Given the description of an element on the screen output the (x, y) to click on. 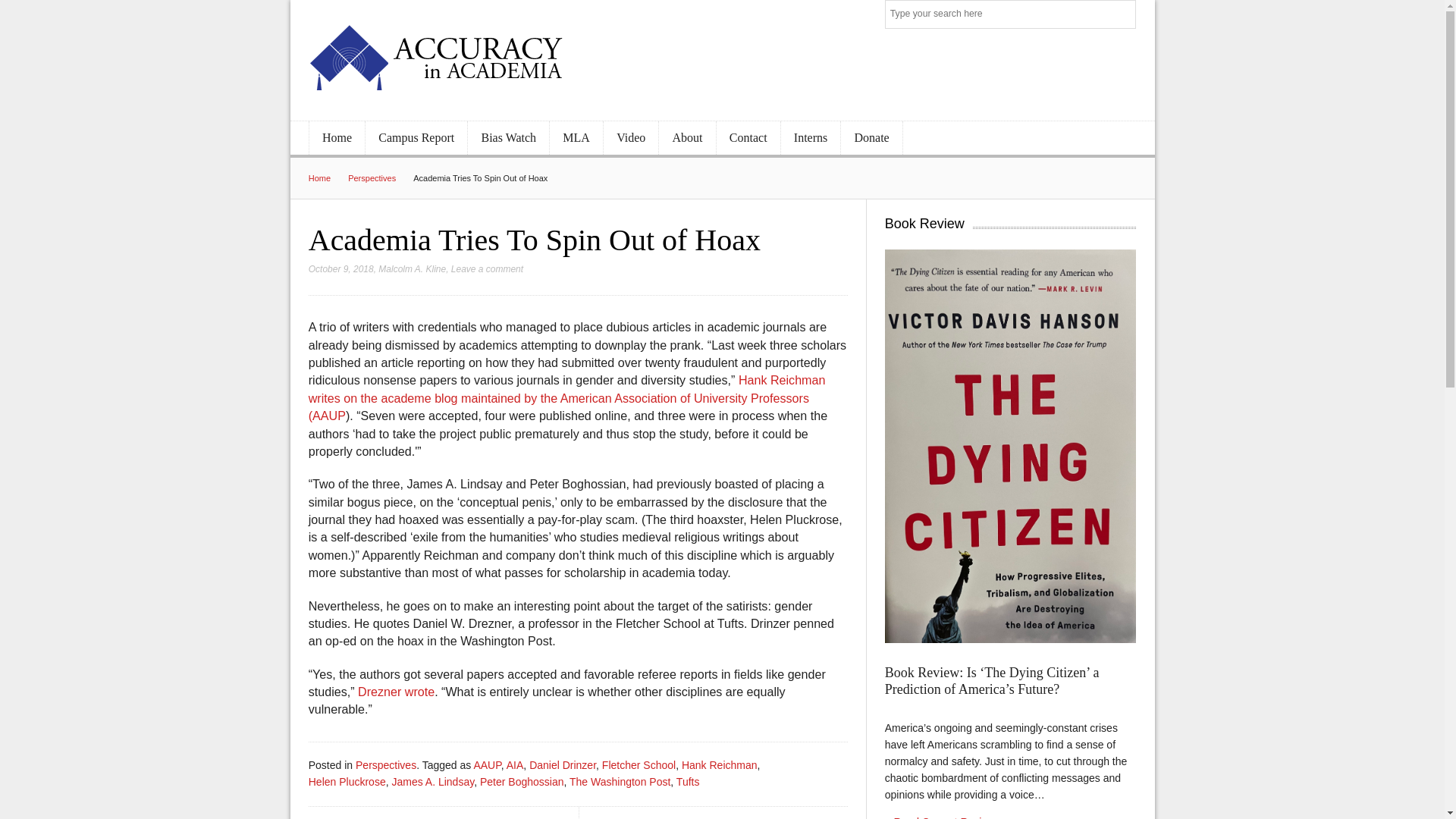
Tufts (688, 781)
Campus Report (416, 138)
The Washington Post (619, 781)
Donate (871, 138)
Bias Watch (507, 138)
AIA (515, 765)
Drezner wrote (395, 691)
About (686, 138)
Video (631, 138)
Hank Reichman (719, 765)
